Given the description of an element on the screen output the (x, y) to click on. 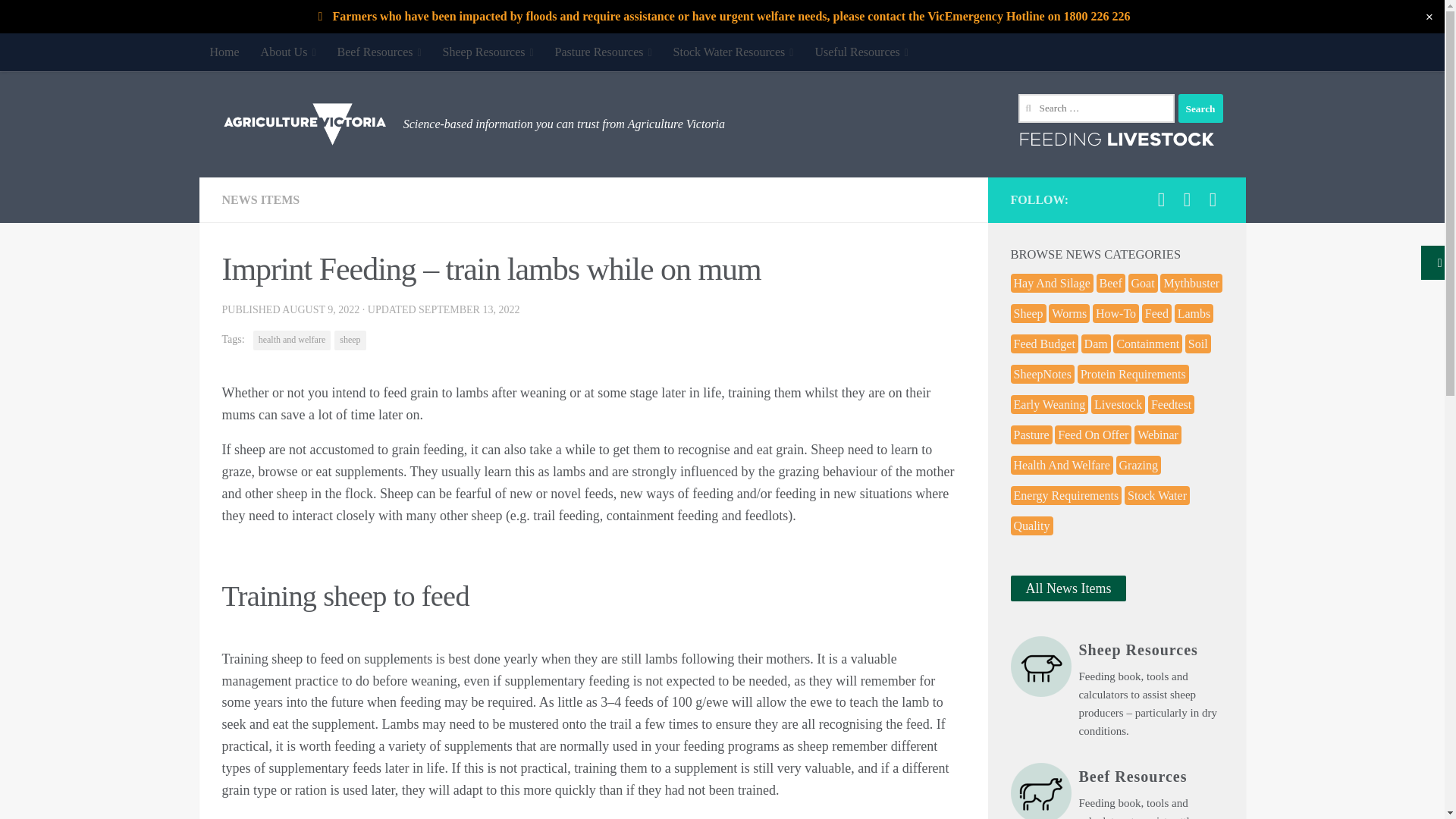
Beef Resources (379, 52)
Skip to content (59, 20)
Sheep Resources (488, 52)
Search (1200, 108)
About Us (288, 52)
Home (223, 52)
Search (1200, 108)
